Given the description of an element on the screen output the (x, y) to click on. 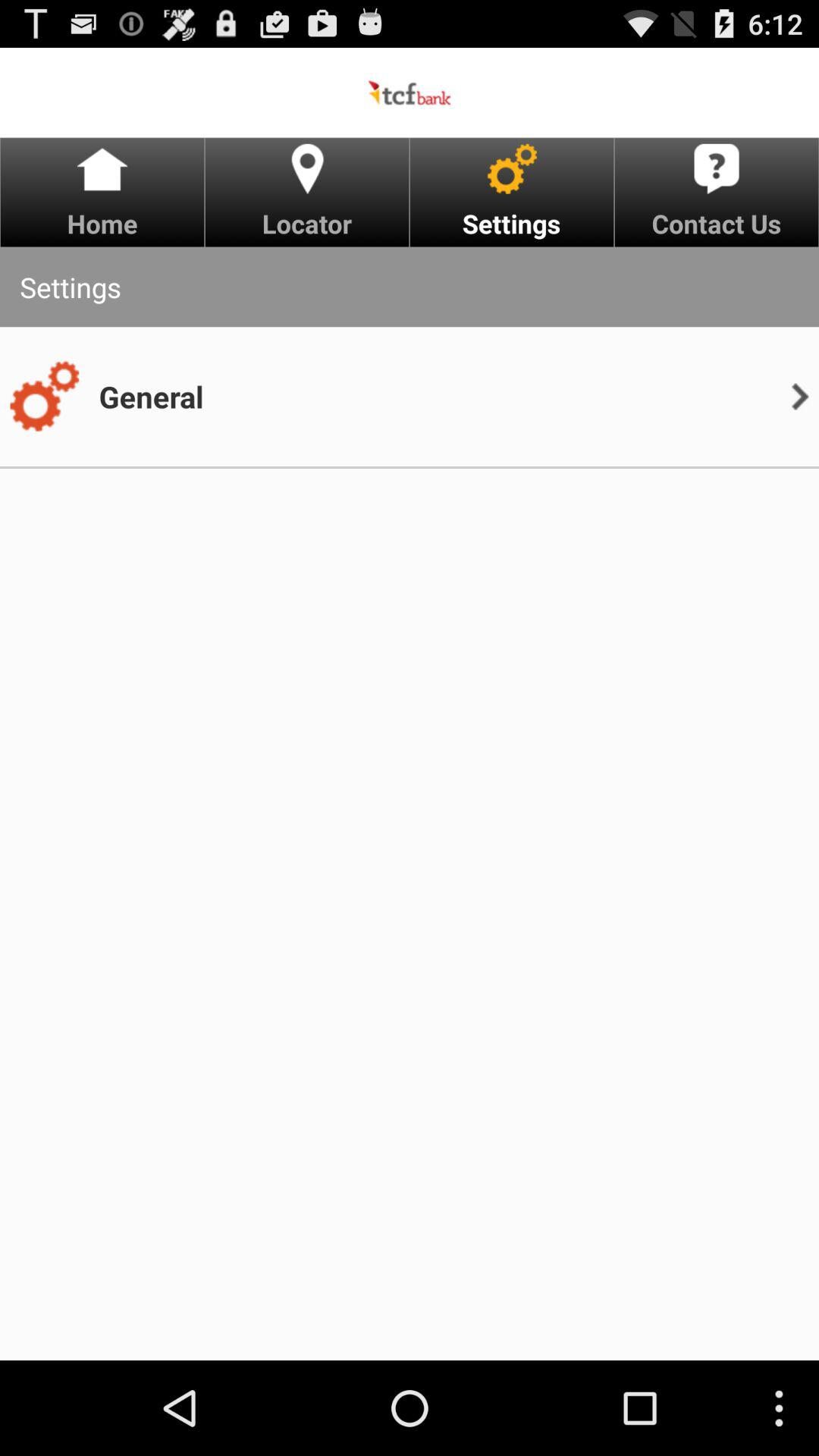
scroll to the general app (150, 396)
